Given the description of an element on the screen output the (x, y) to click on. 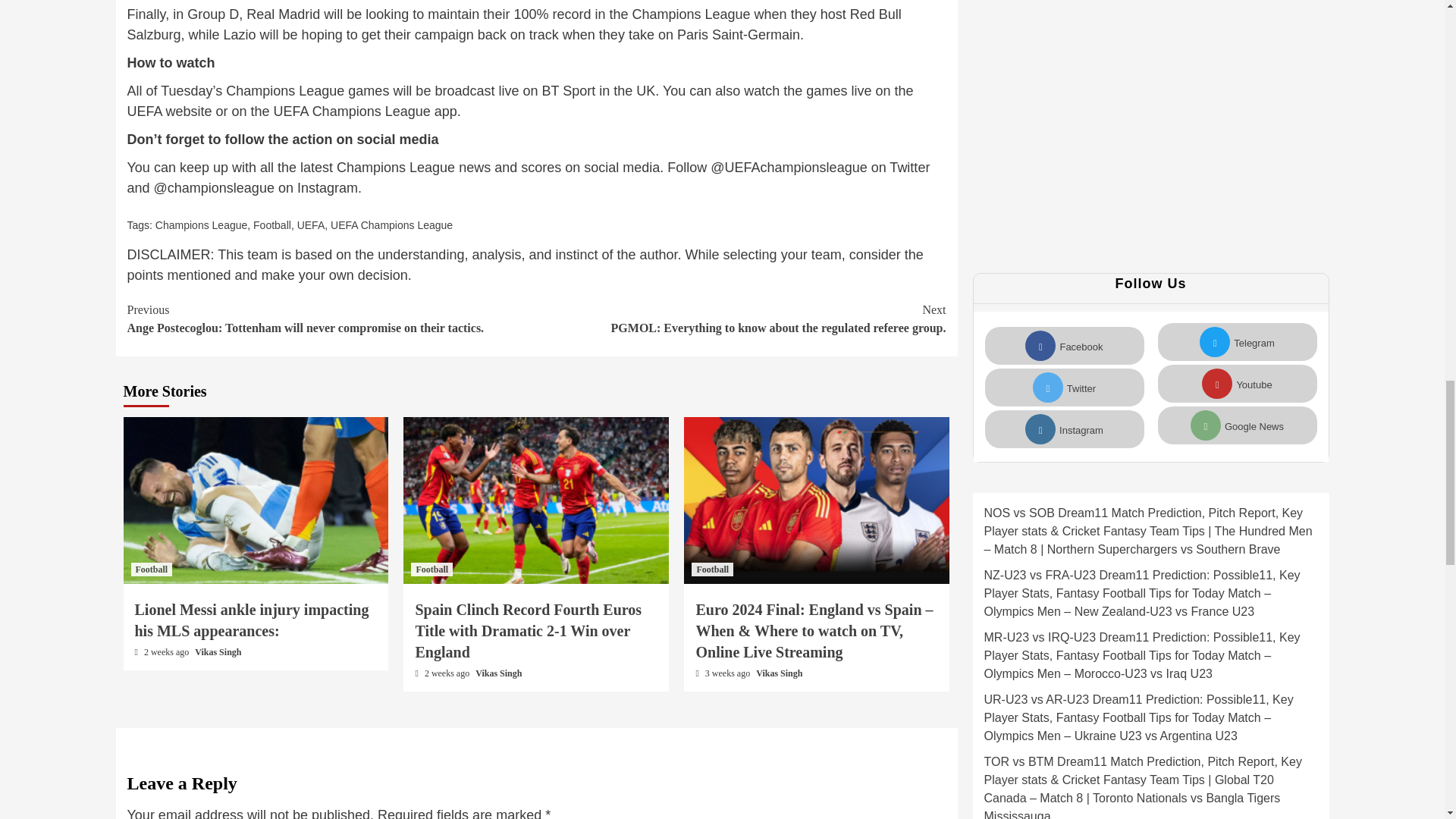
Vikas Singh (218, 652)
Football (431, 569)
Champions League (201, 224)
Football (712, 569)
Vikas Singh (778, 673)
Football (151, 569)
Vikas Singh (498, 673)
UEFA (310, 224)
UEFA Champions League (391, 224)
Football (272, 224)
Lionel Messi ankle injury impacting his MLS appearances: (252, 620)
